Given the description of an element on the screen output the (x, y) to click on. 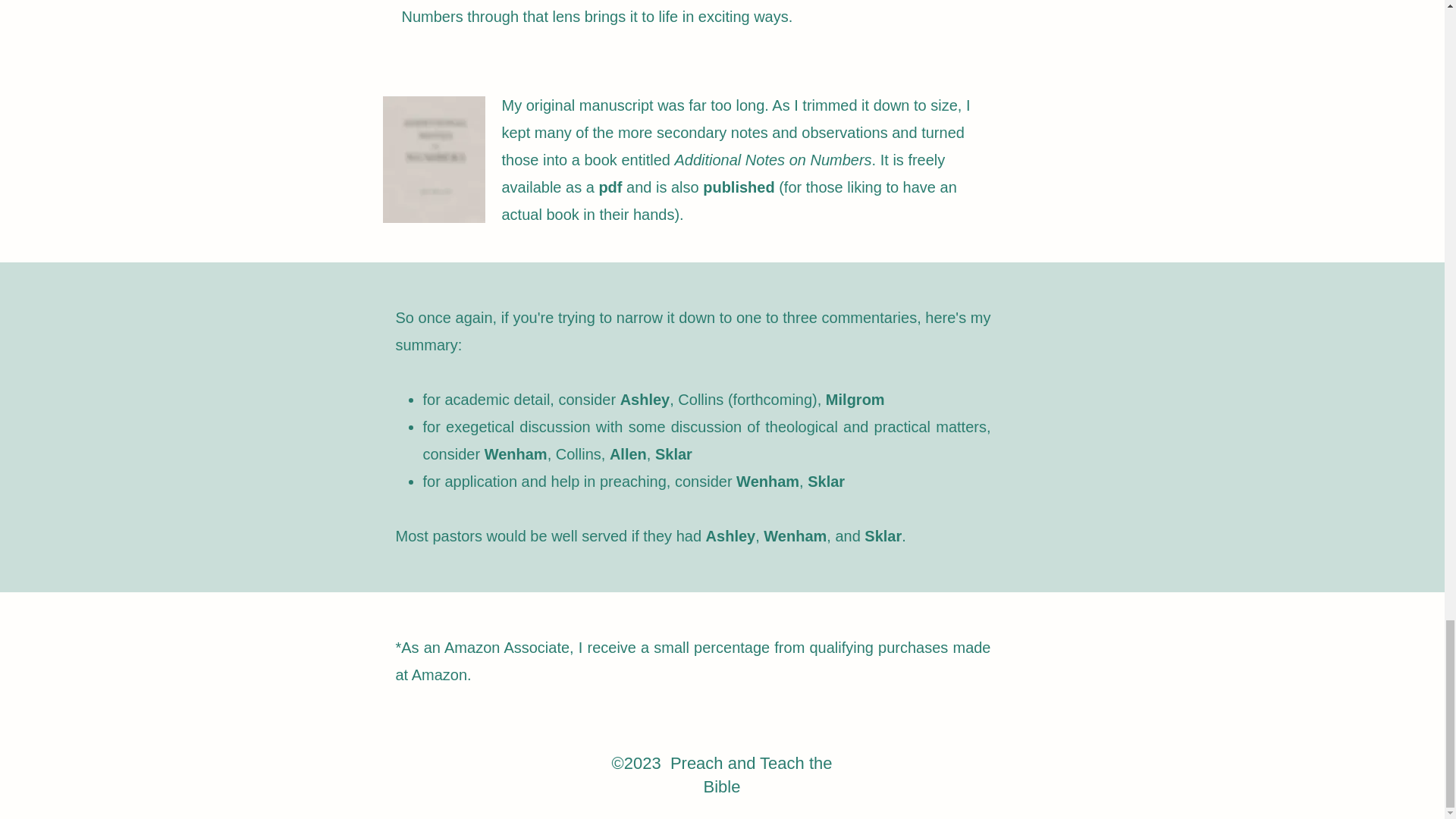
Ashley (730, 535)
Sklar (674, 453)
Milgrom (855, 399)
Allen (628, 453)
Wenham (767, 481)
Wenham (515, 453)
Sklar (826, 481)
Ashley (644, 399)
pdf (612, 187)
published (740, 187)
